Given the description of an element on the screen output the (x, y) to click on. 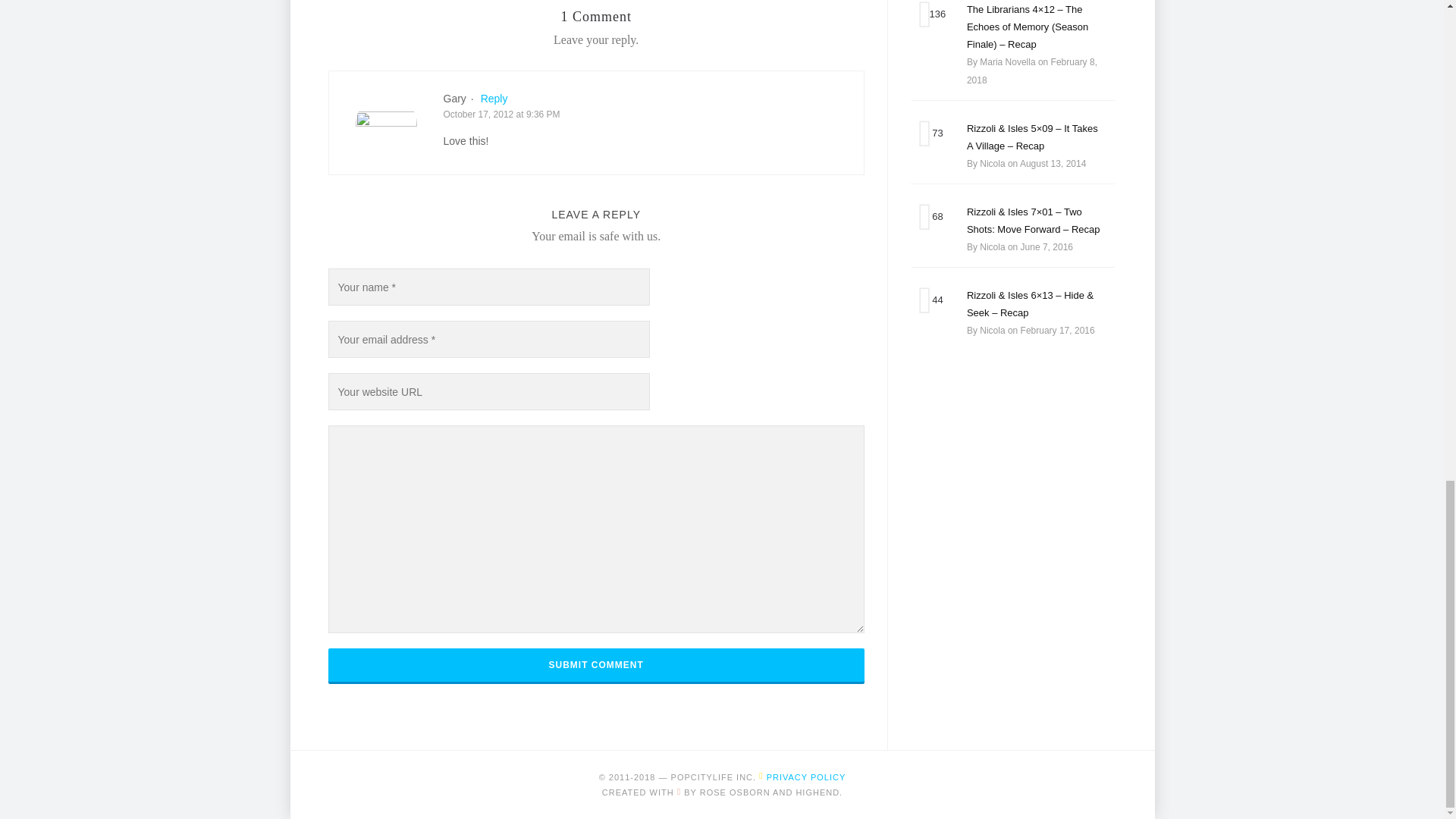
Reply (494, 98)
Submit Comment (595, 664)
October 17, 2012 at 9:36 PM (500, 113)
Submit Comment (595, 664)
